Given the description of an element on the screen output the (x, y) to click on. 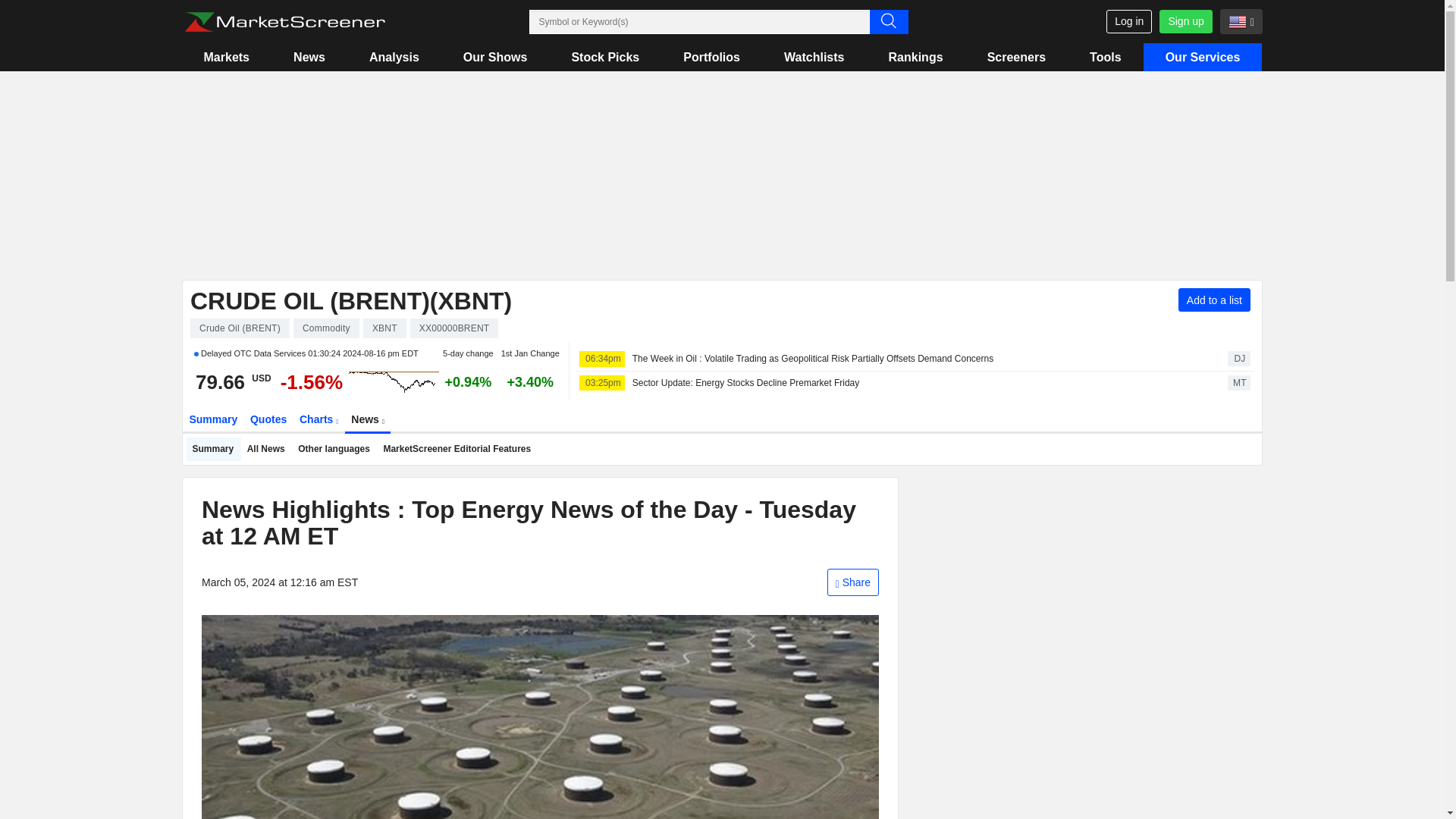
Marketscreener: stock market and financial news (284, 21)
Sign up (1184, 21)
Log in (1128, 21)
Advanced search (888, 21)
Markets (226, 57)
